Given the description of an element on the screen output the (x, y) to click on. 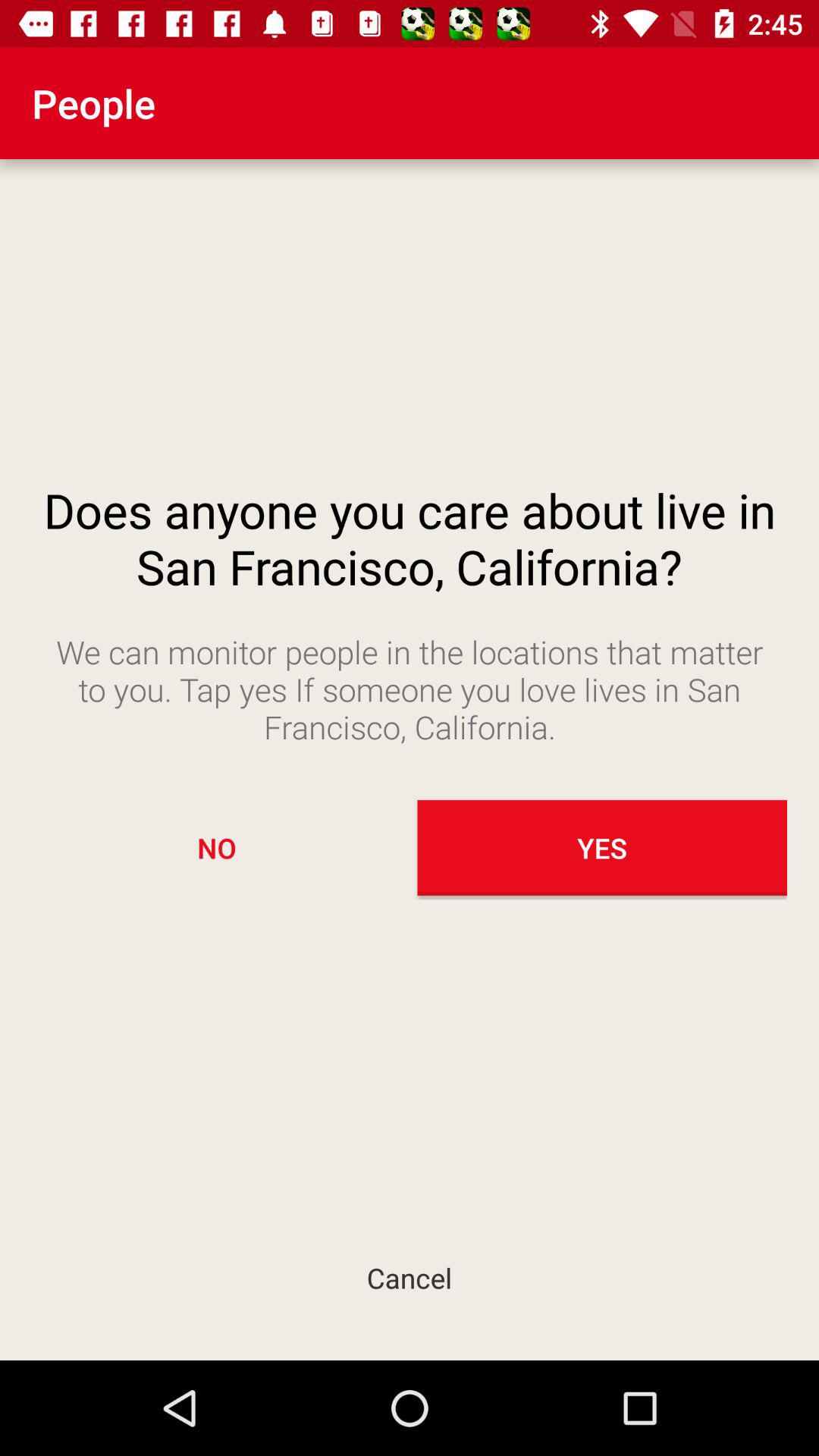
flip until the no (216, 847)
